Given the description of an element on the screen output the (x, y) to click on. 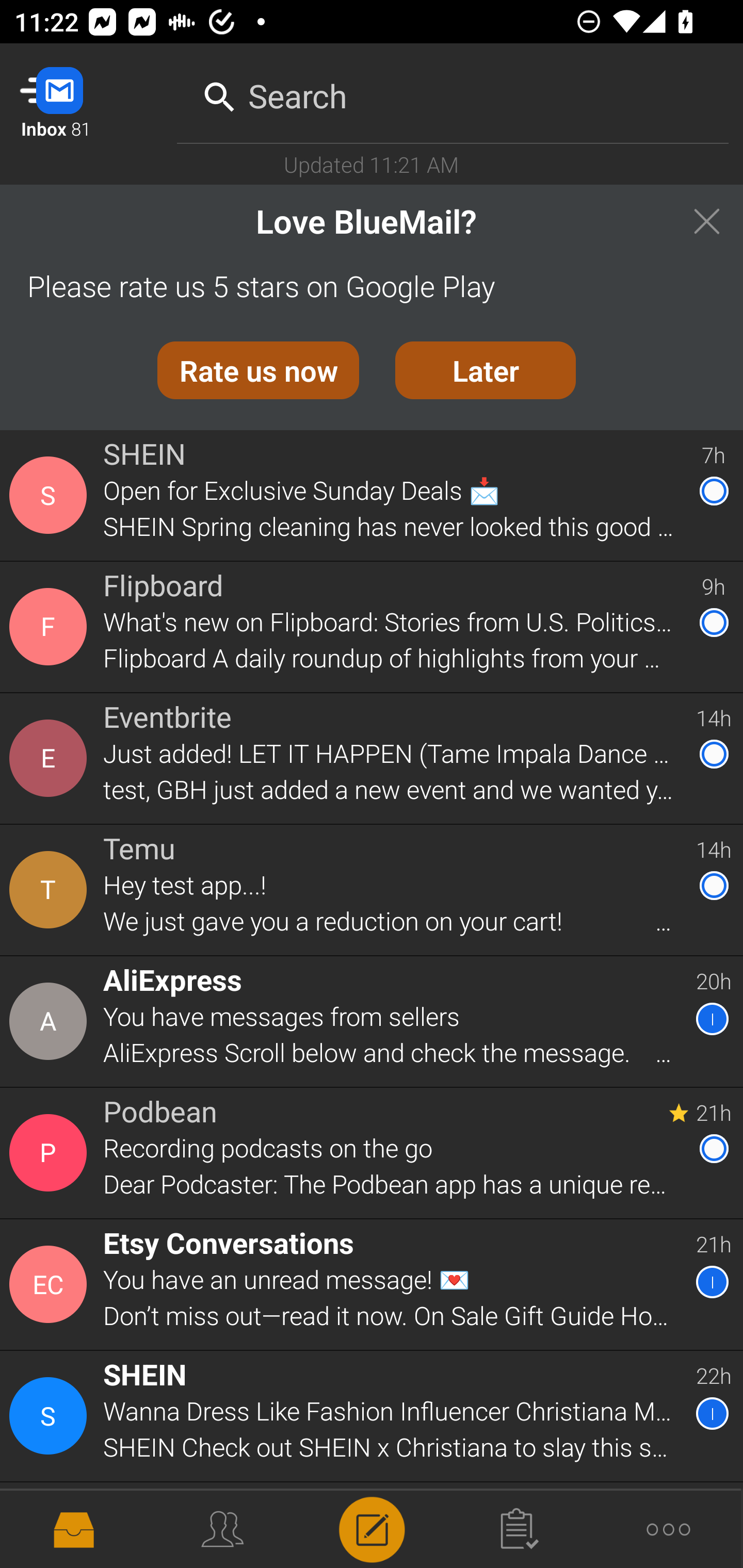
Navigate up (81, 93)
   Search (452, 92)
Updated 11:21 AM (371, 164)
Rate us now (257, 370)
Later (485, 370)
Contact Details (50, 495)
Contact Details (50, 626)
Contact Details (50, 758)
Contact Details (50, 889)
Contact Details (50, 1021)
Contact Details (50, 1153)
Contact Details (50, 1284)
Contact Details (50, 1416)
Contact Details (50, 1524)
Compose (371, 1528)
